Given the description of an element on the screen output the (x, y) to click on. 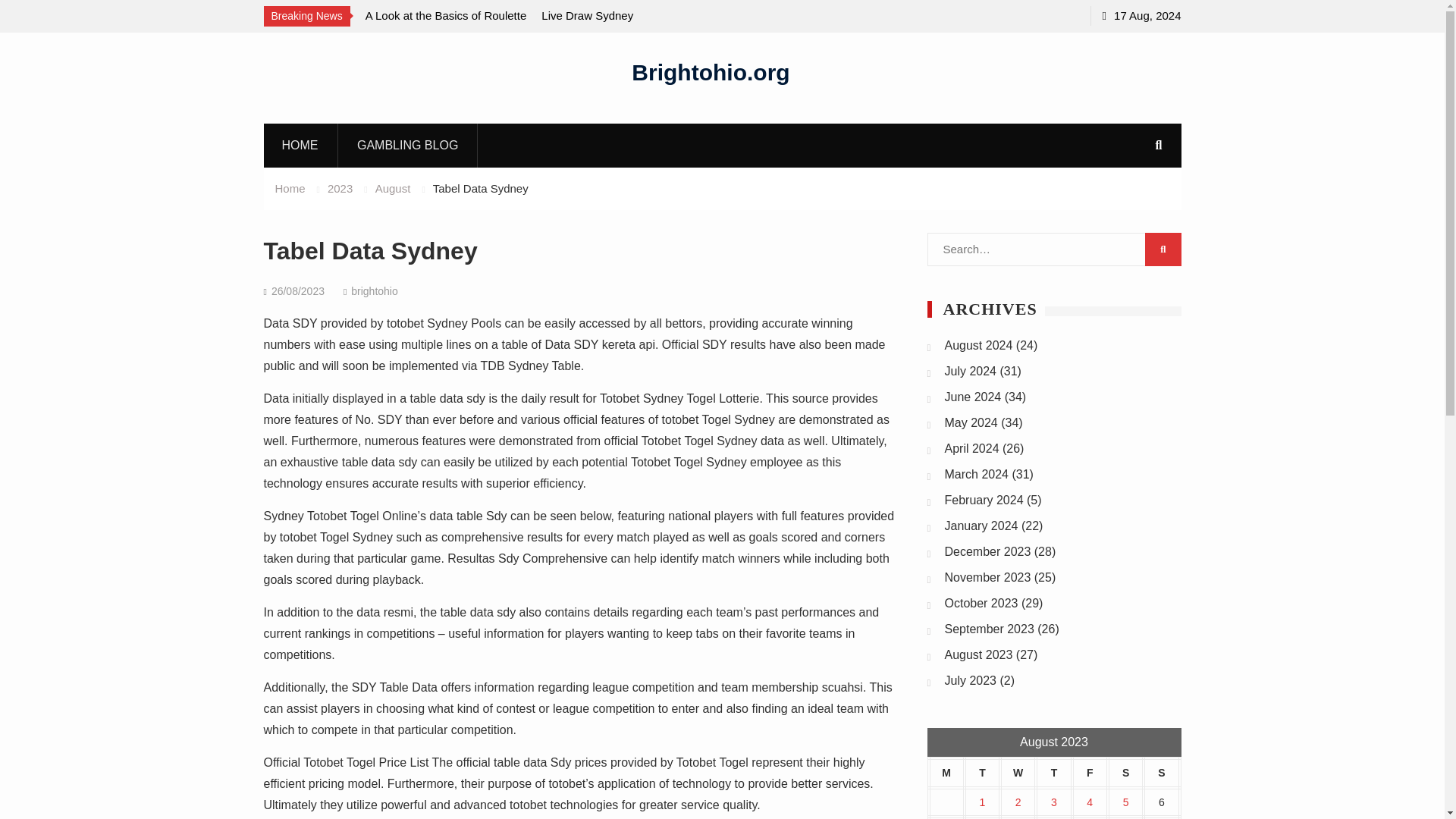
HOME (299, 144)
Brightohio.org (710, 71)
Search for: (1053, 249)
Home (289, 187)
2023 (339, 187)
July 2023 (970, 680)
November 2023 (987, 576)
A Look at the Basics of Roulette (446, 15)
Tuesday (981, 772)
Sunday (1160, 772)
